Given the description of an element on the screen output the (x, y) to click on. 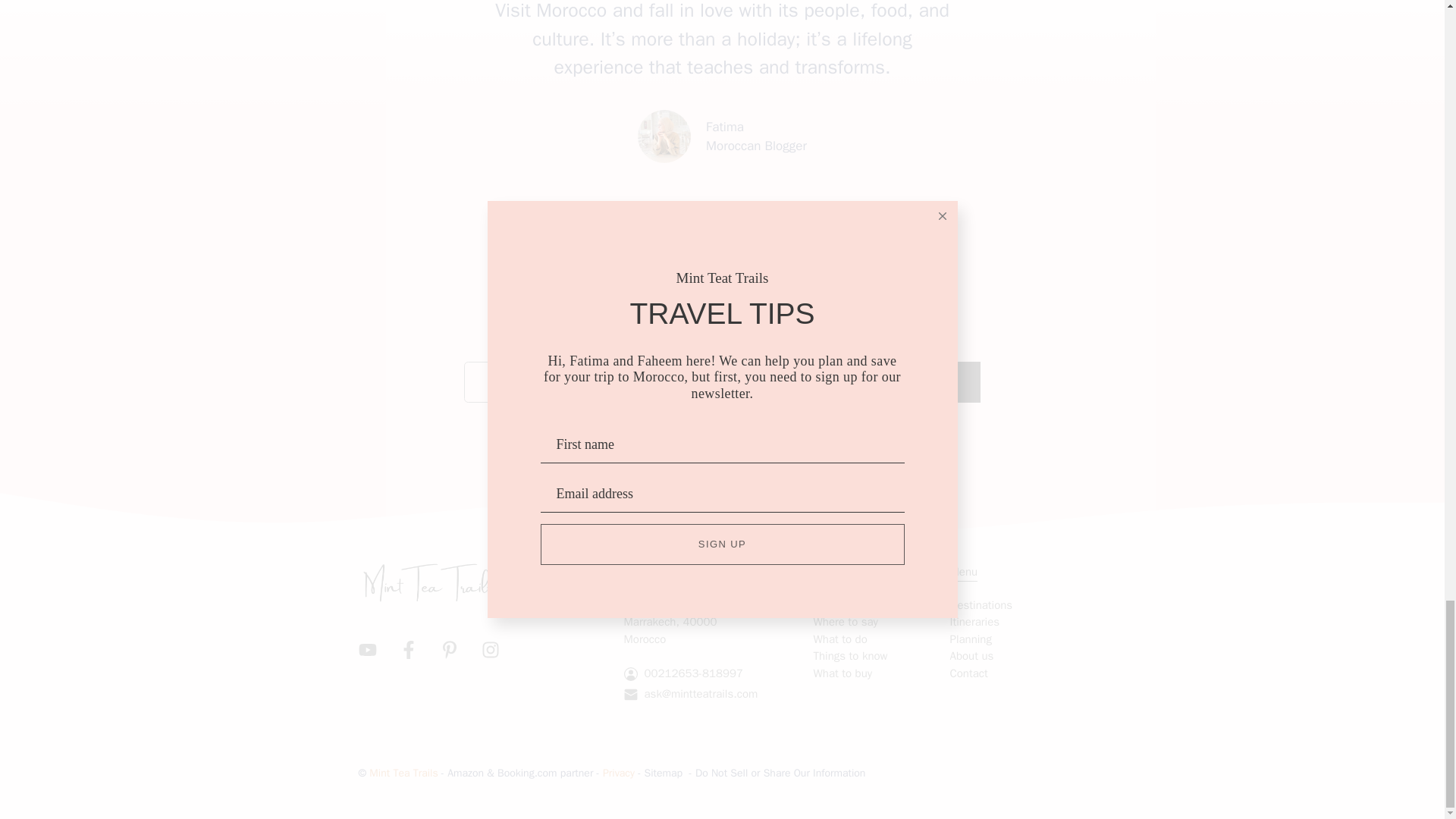
mint tea trails logo (426, 581)
Fay (663, 135)
